Given the description of an element on the screen output the (x, y) to click on. 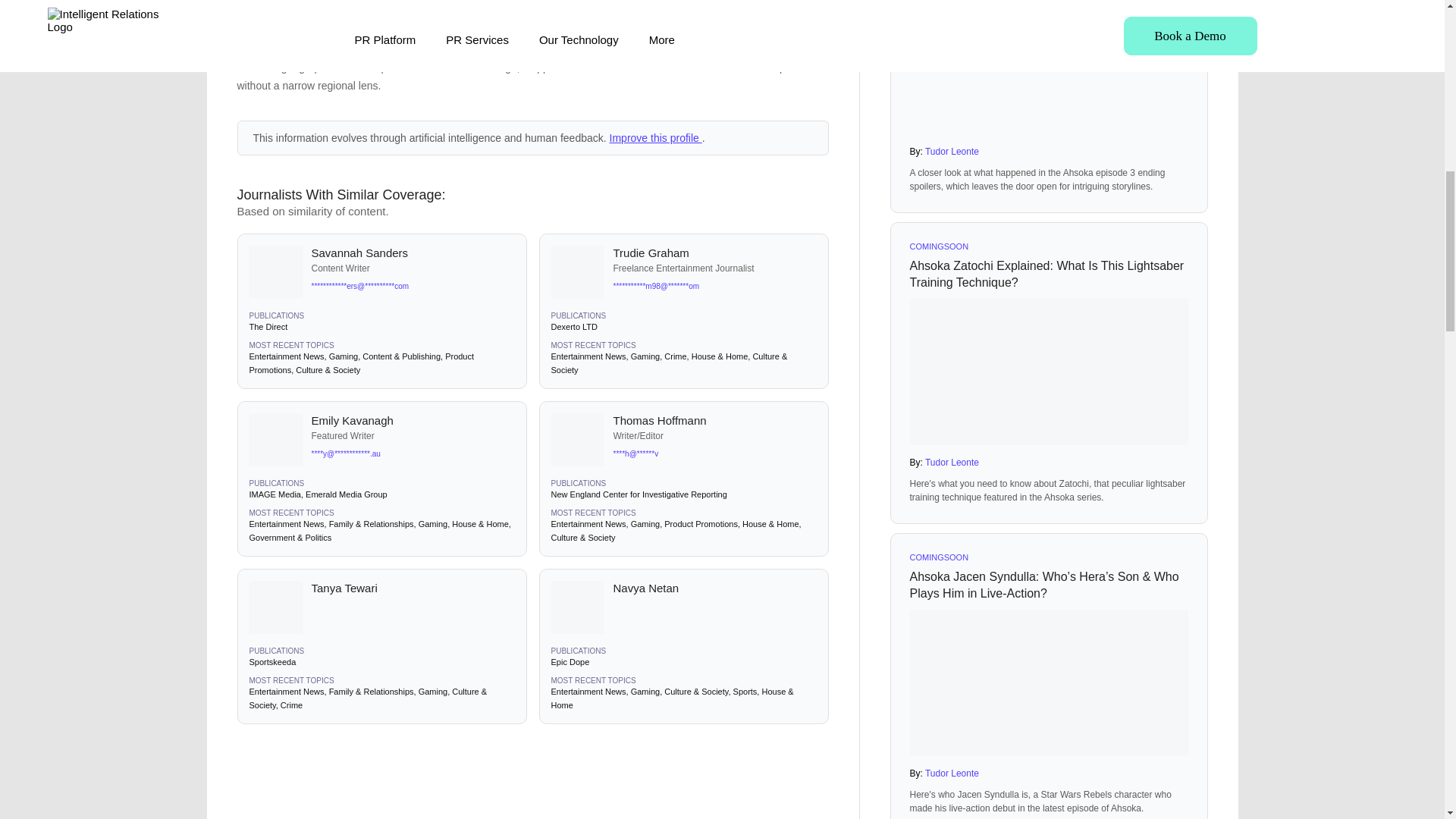
Improve this profile (655, 137)
Savannah Sanders (412, 252)
New England Center for Investigative Reporting (638, 493)
Trudie Graham (713, 252)
IMAGE Media (273, 493)
Thomas Hoffmann (713, 420)
The Direct (267, 326)
Dexerto LTD (573, 326)
Emily Kavanagh (412, 420)
Emerald Media Group (346, 493)
